Given the description of an element on the screen output the (x, y) to click on. 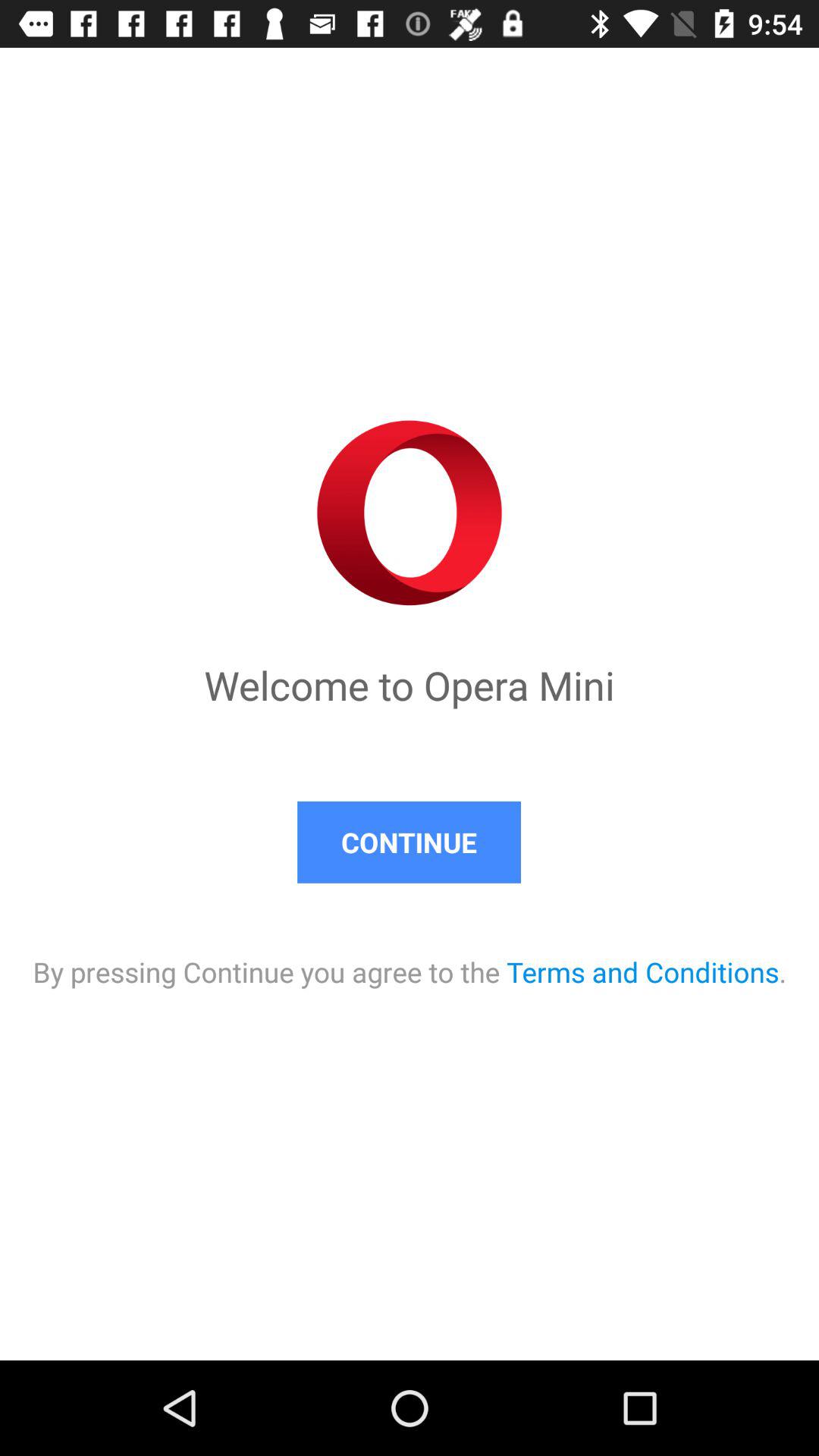
flip to the by pressing continue icon (409, 956)
